Given the description of an element on the screen output the (x, y) to click on. 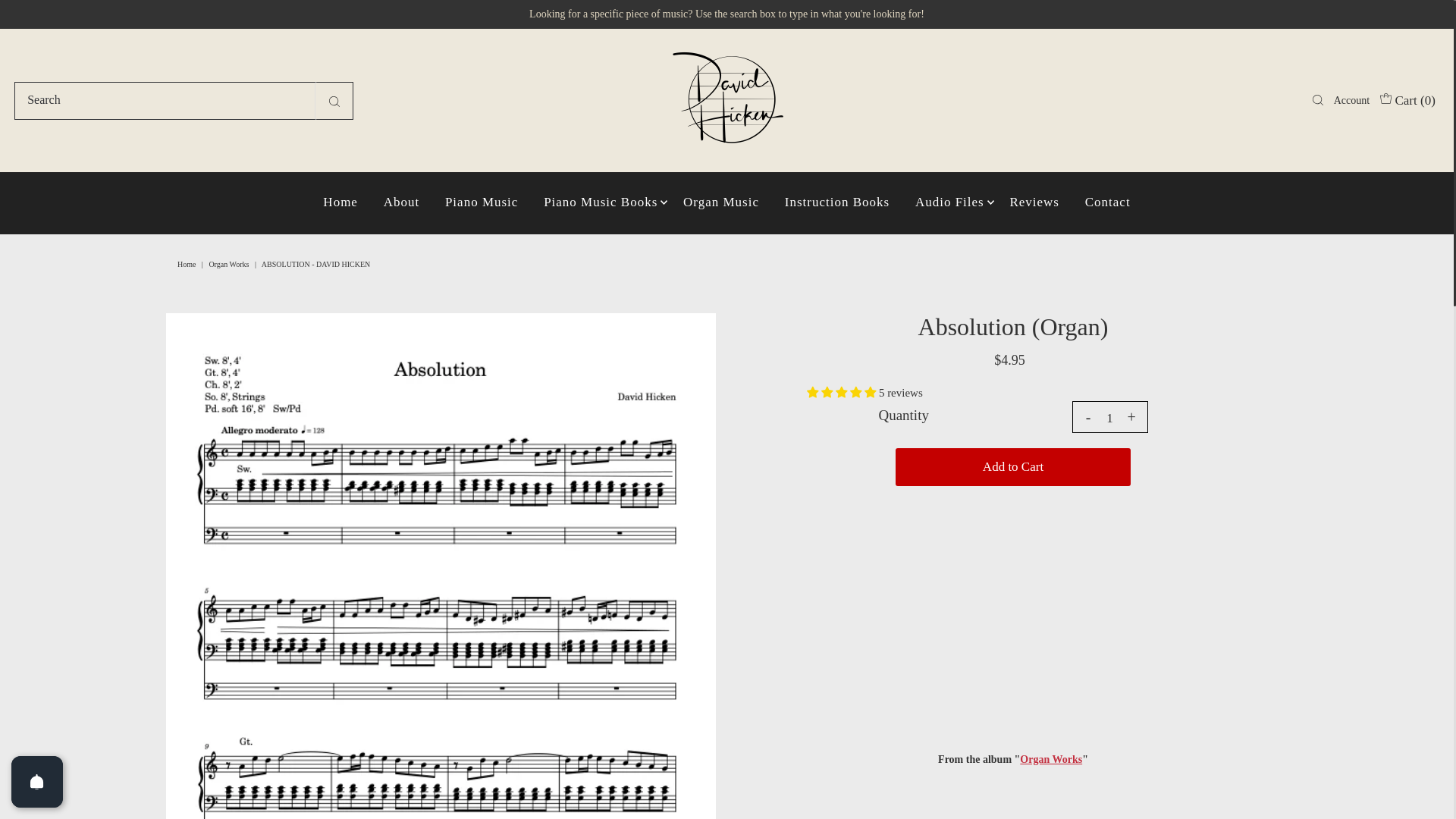
Home (188, 264)
YouTube video player (1013, 617)
Add to Cart (1013, 466)
Account (1351, 100)
Piano Music Books (600, 201)
Home (340, 201)
About (401, 201)
Piano Music (481, 201)
